Given the description of an element on the screen output the (x, y) to click on. 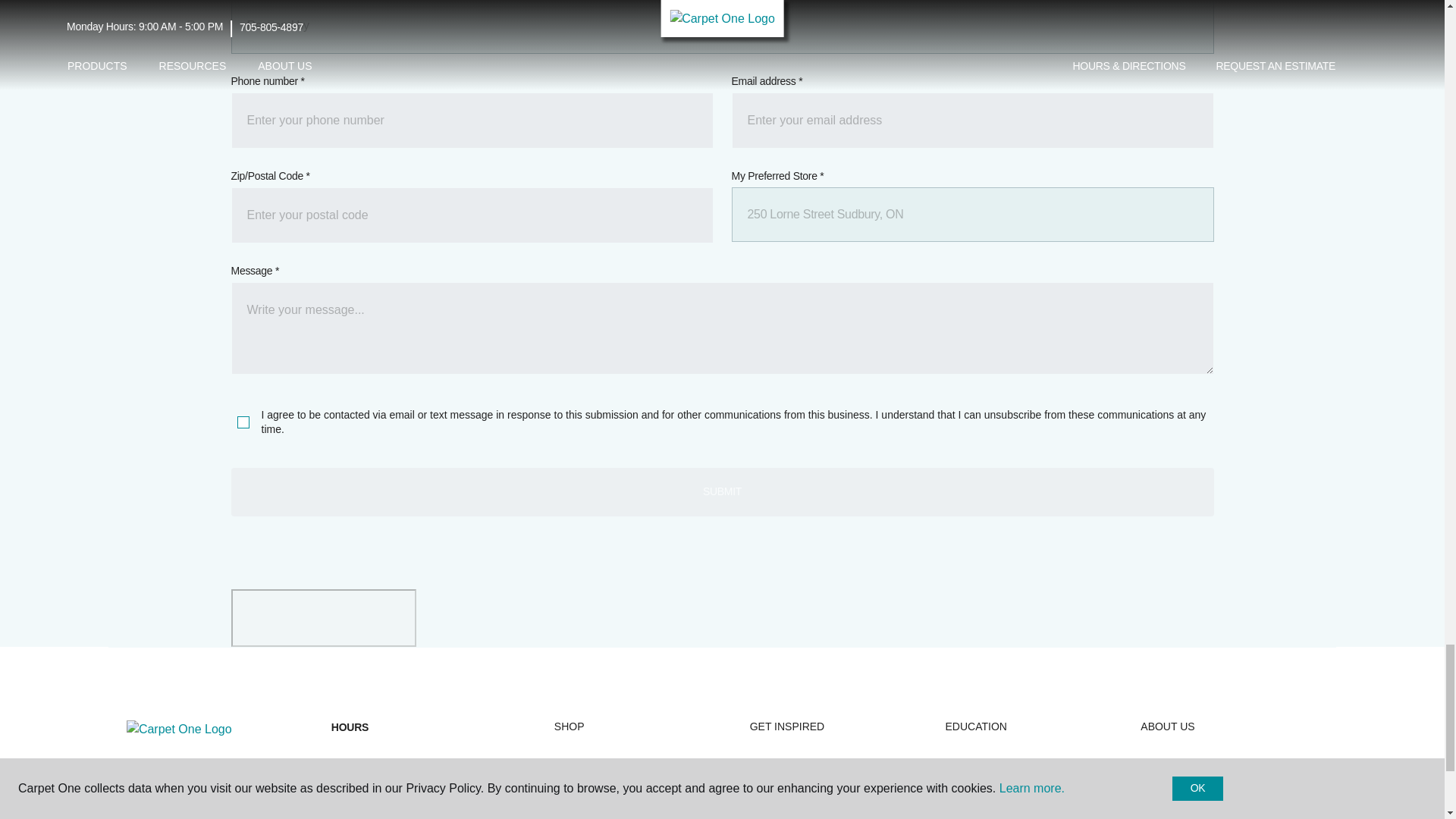
EmailAddress (971, 120)
MyMessage (721, 327)
PostalCode (471, 214)
CleanHomePhone (471, 120)
